Given the description of an element on the screen output the (x, y) to click on. 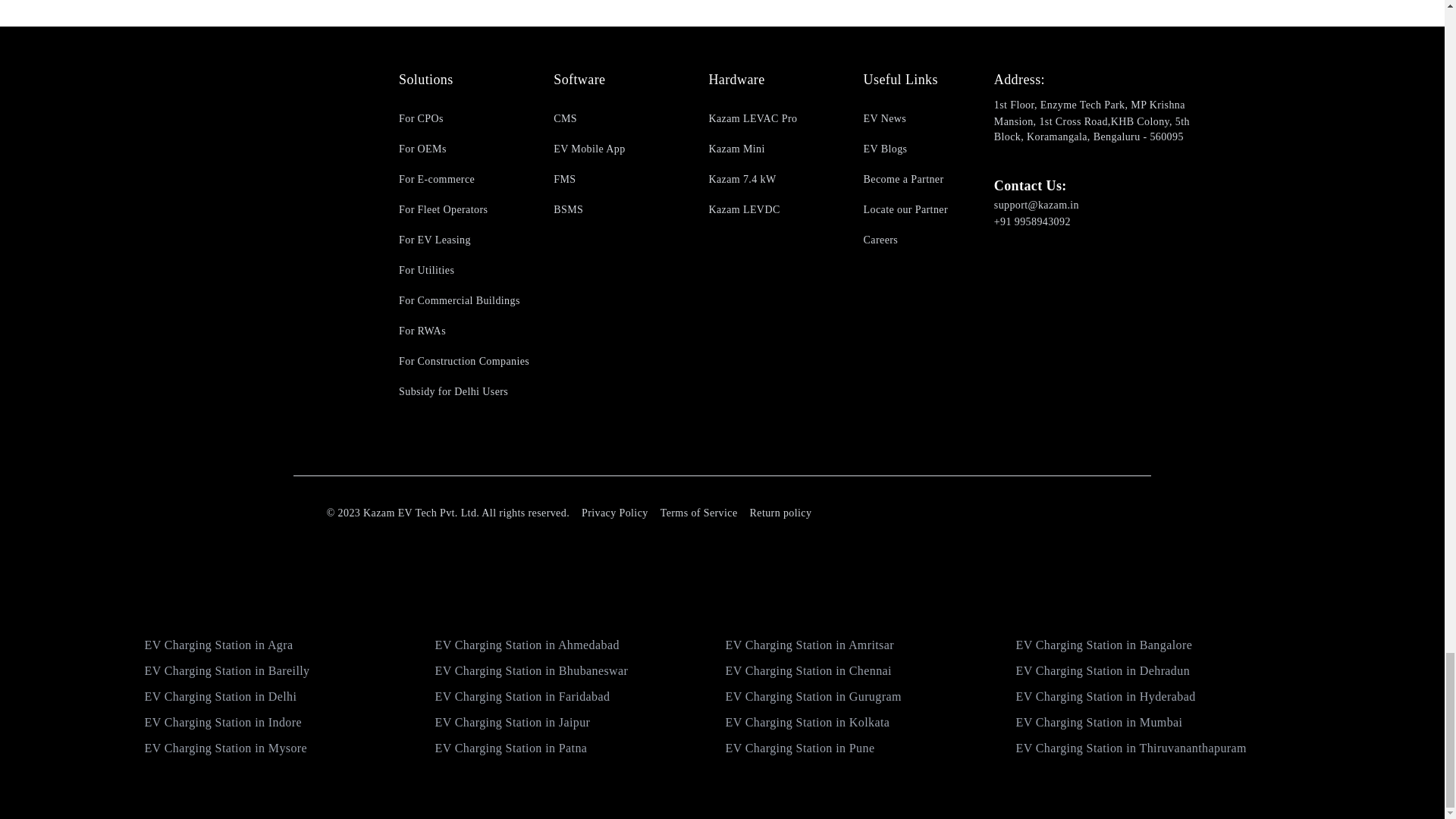
For OEMs (463, 149)
Kazam 7.4 kW (772, 179)
BSMS (618, 209)
EV Mobile App (618, 149)
Kazam LEVAC Pro (772, 118)
EV News (928, 118)
For EV Leasing (463, 240)
Subsidy for Delhi Users (463, 391)
For Utilities (463, 270)
For CPOs (463, 118)
For Construction Companies (463, 361)
Locate our Partner (928, 209)
CMS (618, 118)
For RWAs (463, 331)
Kazam Mini (772, 149)
